Given the description of an element on the screen output the (x, y) to click on. 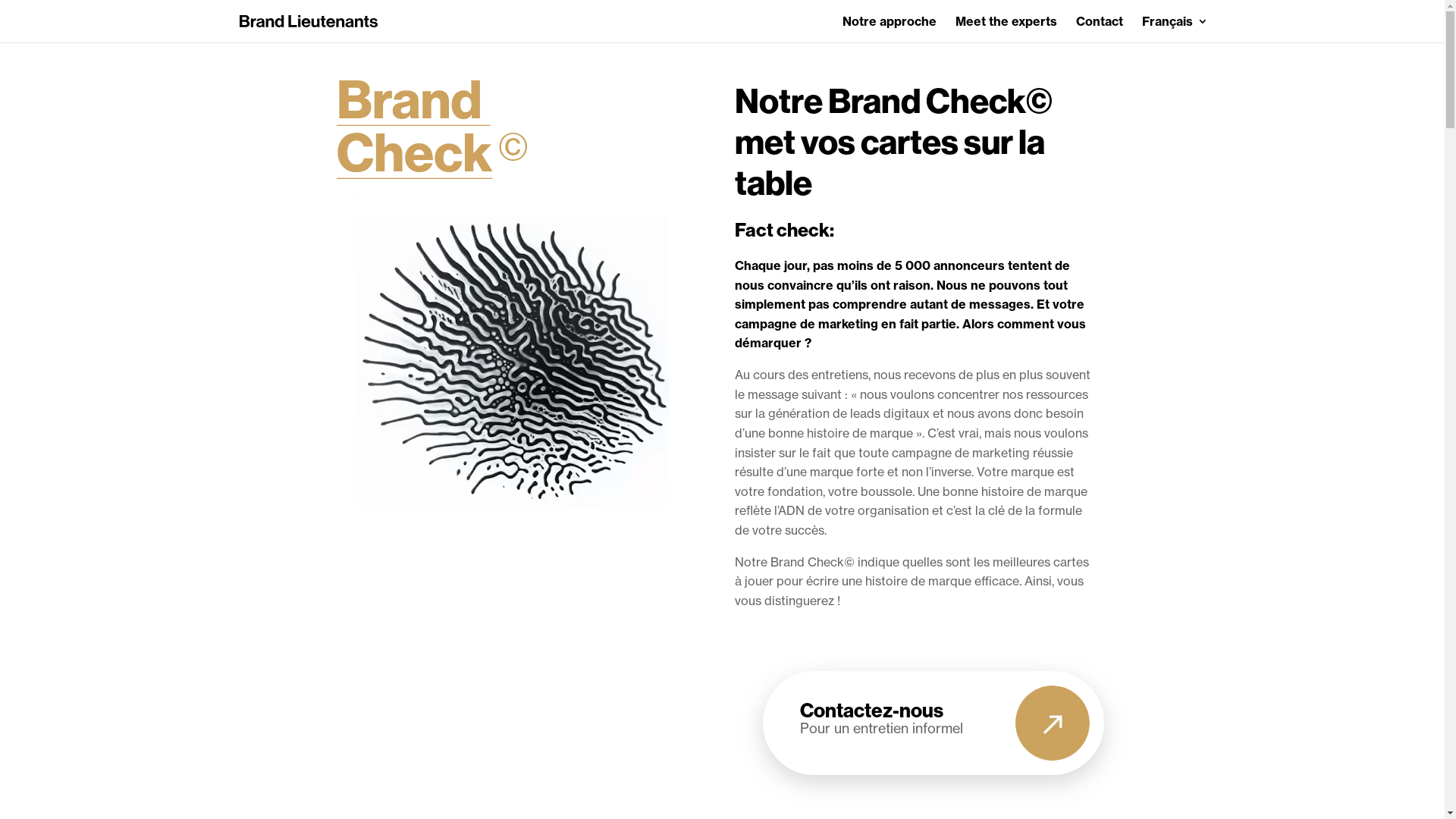
Notre approche Element type: text (888, 28)
Contact Element type: text (1098, 28)
Meet the experts Element type: text (1006, 28)
brandcheck_logo Element type: hover (431, 129)
